Given the description of an element on the screen output the (x, y) to click on. 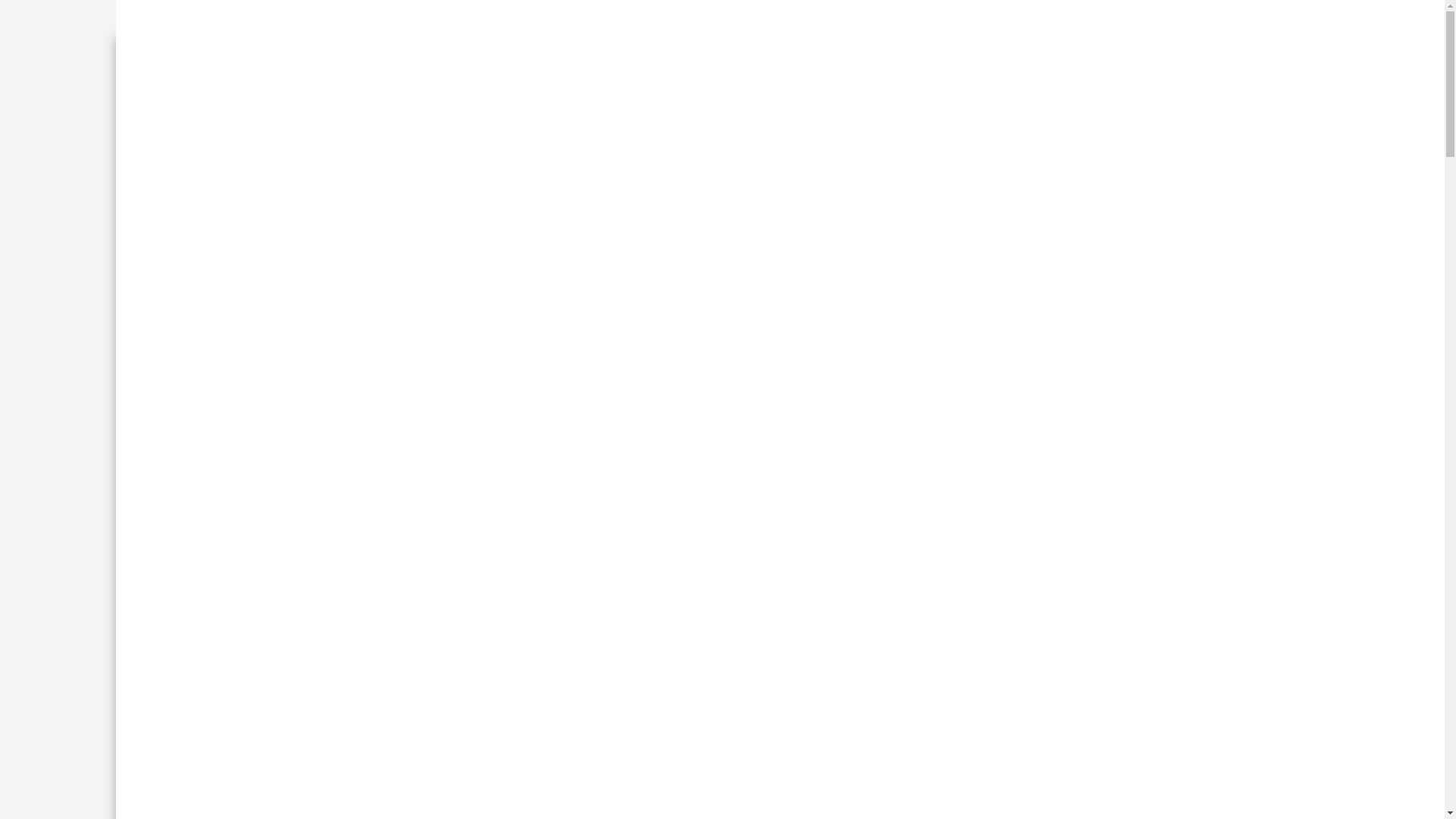
Home (398, 224)
Home (626, 563)
New Book: Clinical Reasoning (593, 224)
Cognitive Bias (689, 563)
About (460, 224)
